Given the description of an element on the screen output the (x, y) to click on. 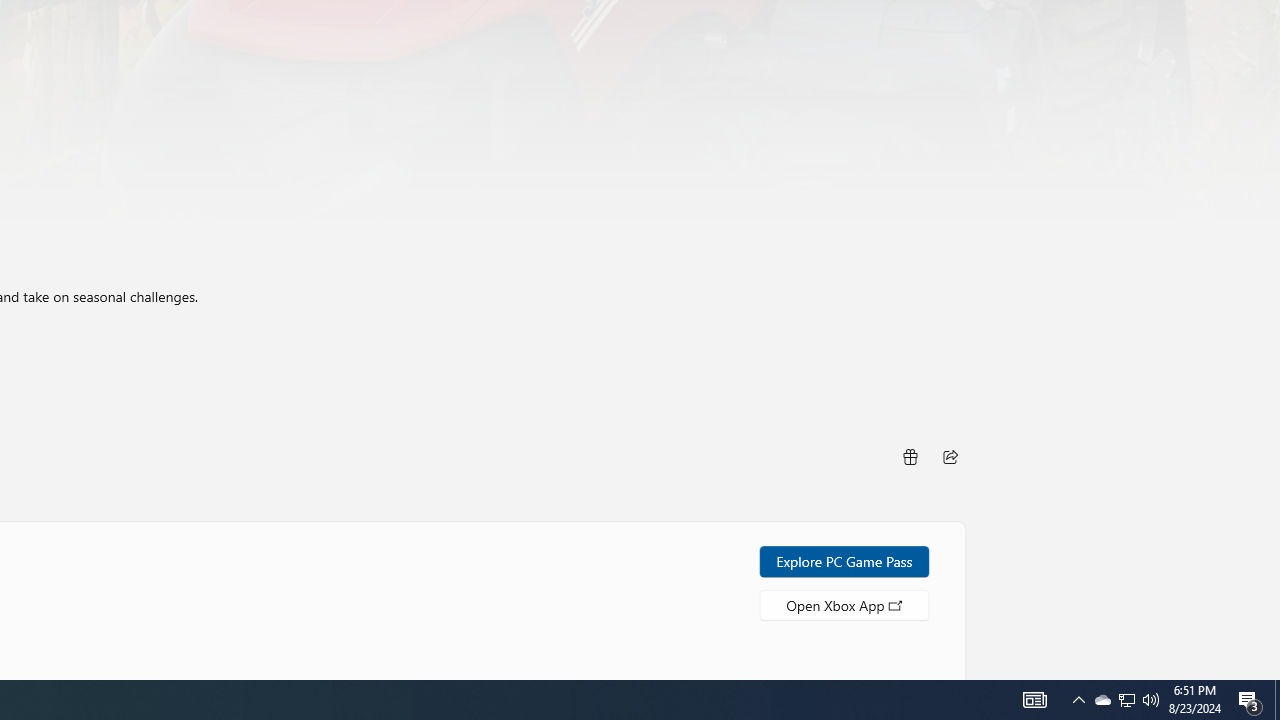
Vertical Small Increase (1272, 672)
Buy as gift (909, 456)
Open Xbox App (844, 603)
Share (950, 456)
Explore PC Game Pass (844, 560)
